Given the description of an element on the screen output the (x, y) to click on. 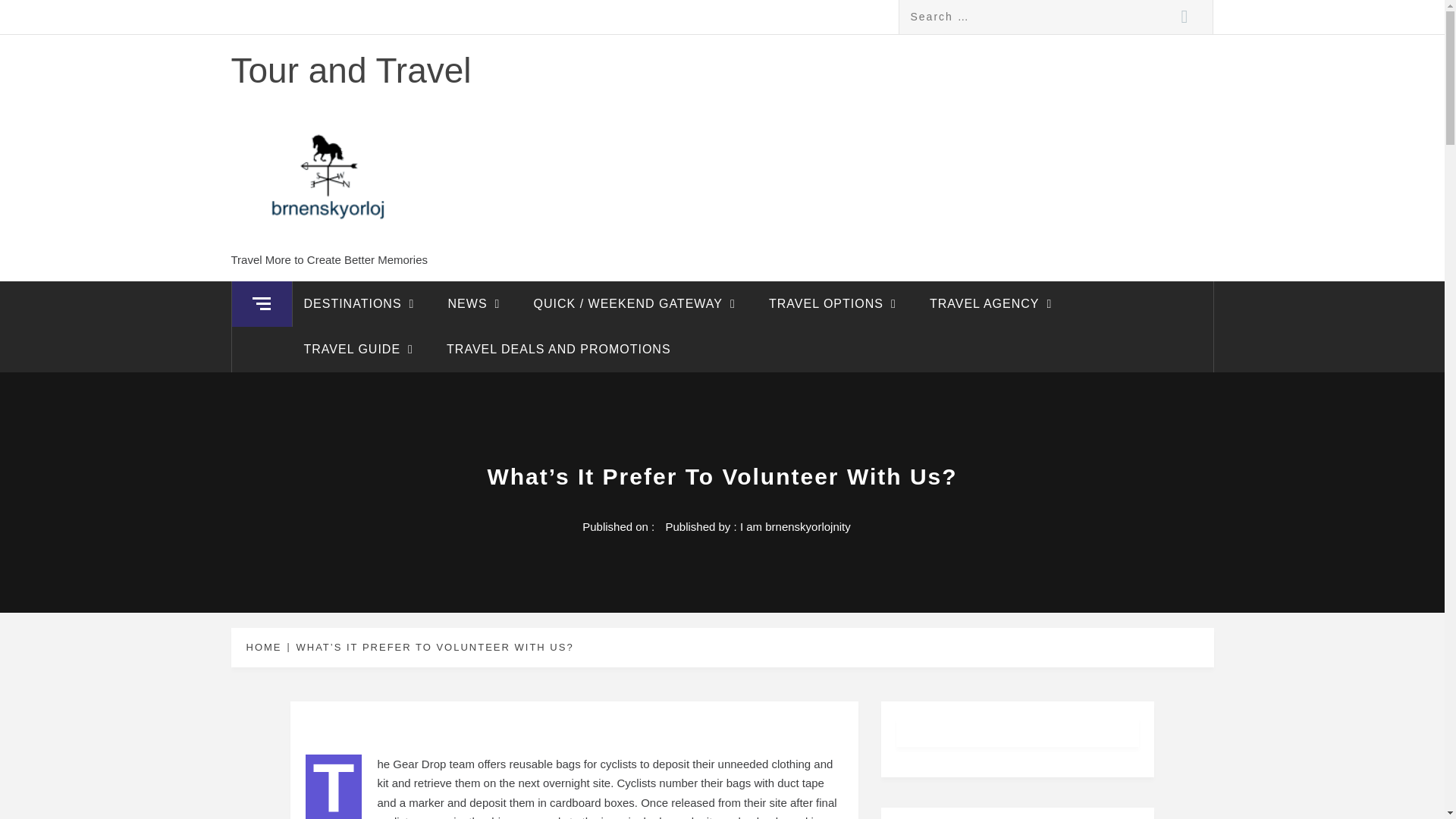
NEWS (477, 303)
TRAVEL AGENCY (994, 303)
Tour and Travel (350, 70)
Search (1184, 17)
Search (1184, 17)
Search (1184, 17)
TRAVEL GUIDE (362, 349)
DESTINATIONS (362, 303)
TRAVEL OPTIONS (836, 303)
